Given the description of an element on the screen output the (x, y) to click on. 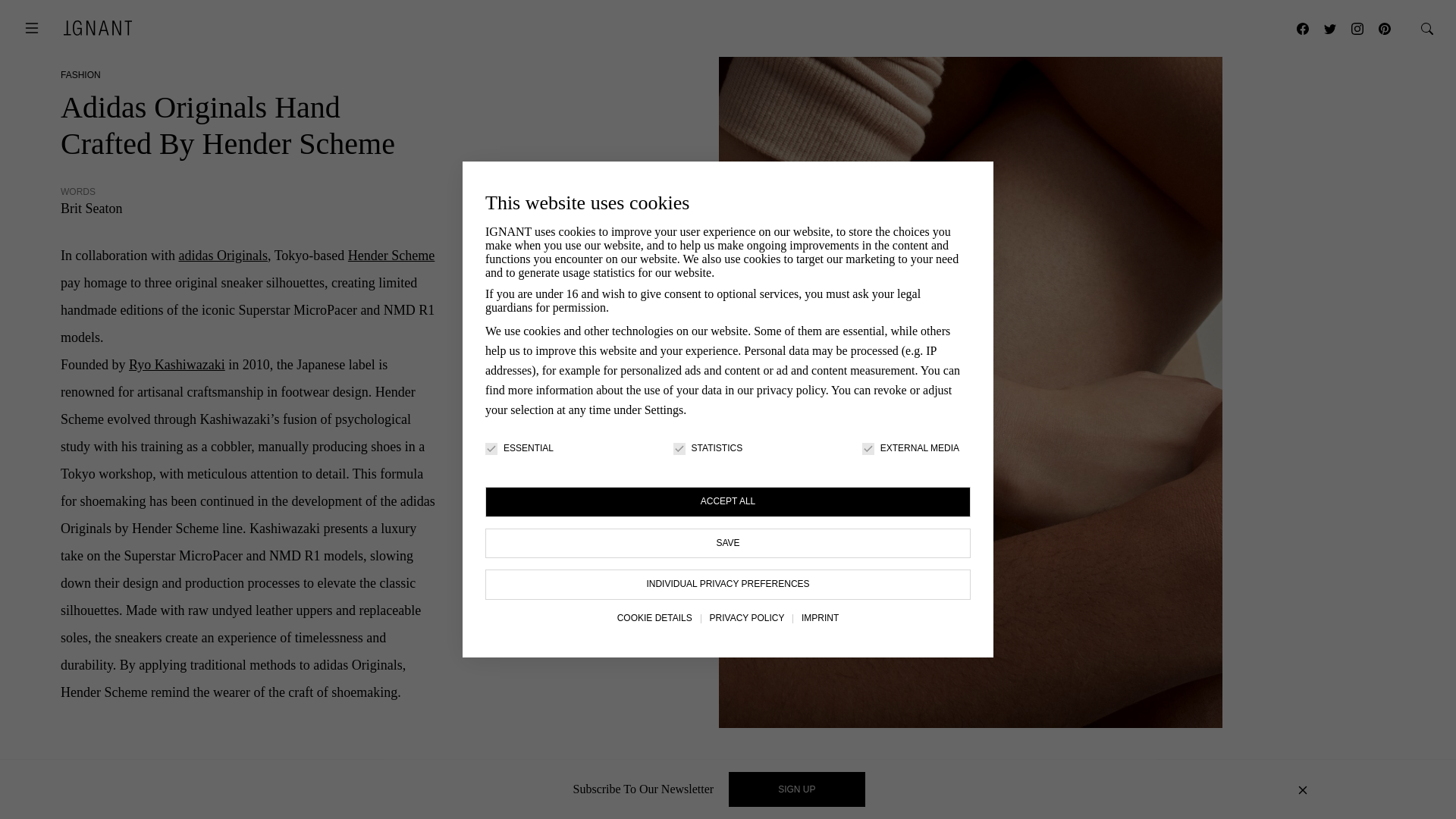
Posts by Brit Seaton (91, 208)
Brit Seaton (91, 208)
Ryo Kashiwazaki (177, 364)
AUTOPLAY (847, 795)
Hender Scheme (390, 255)
VIEW IMAGES (1092, 795)
adidas Originals (221, 255)
FASHION (80, 74)
